Given the description of an element on the screen output the (x, y) to click on. 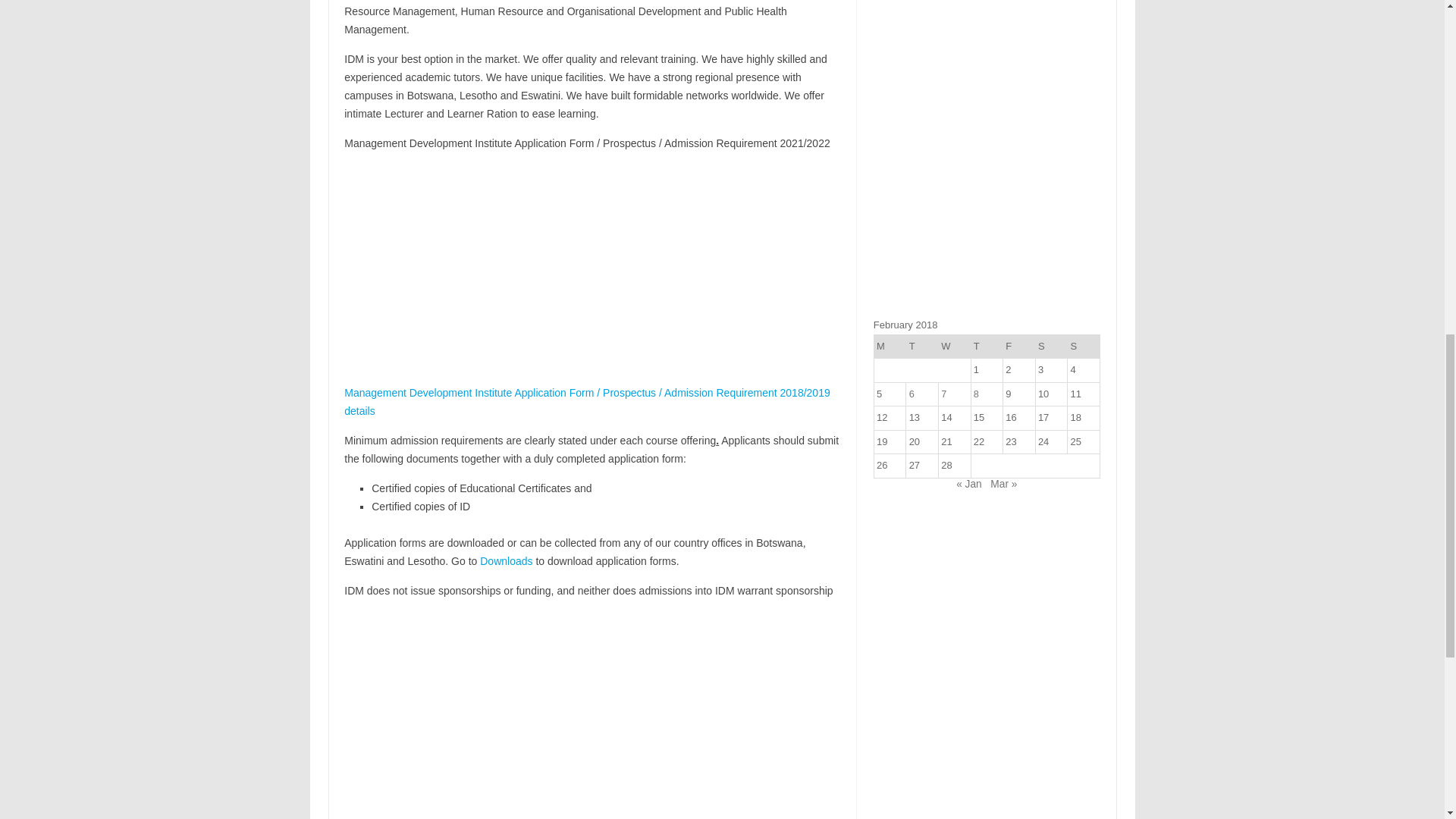
Downloads (506, 561)
Advertisement (591, 714)
Advertisement (591, 269)
